Given the description of an element on the screen output the (x, y) to click on. 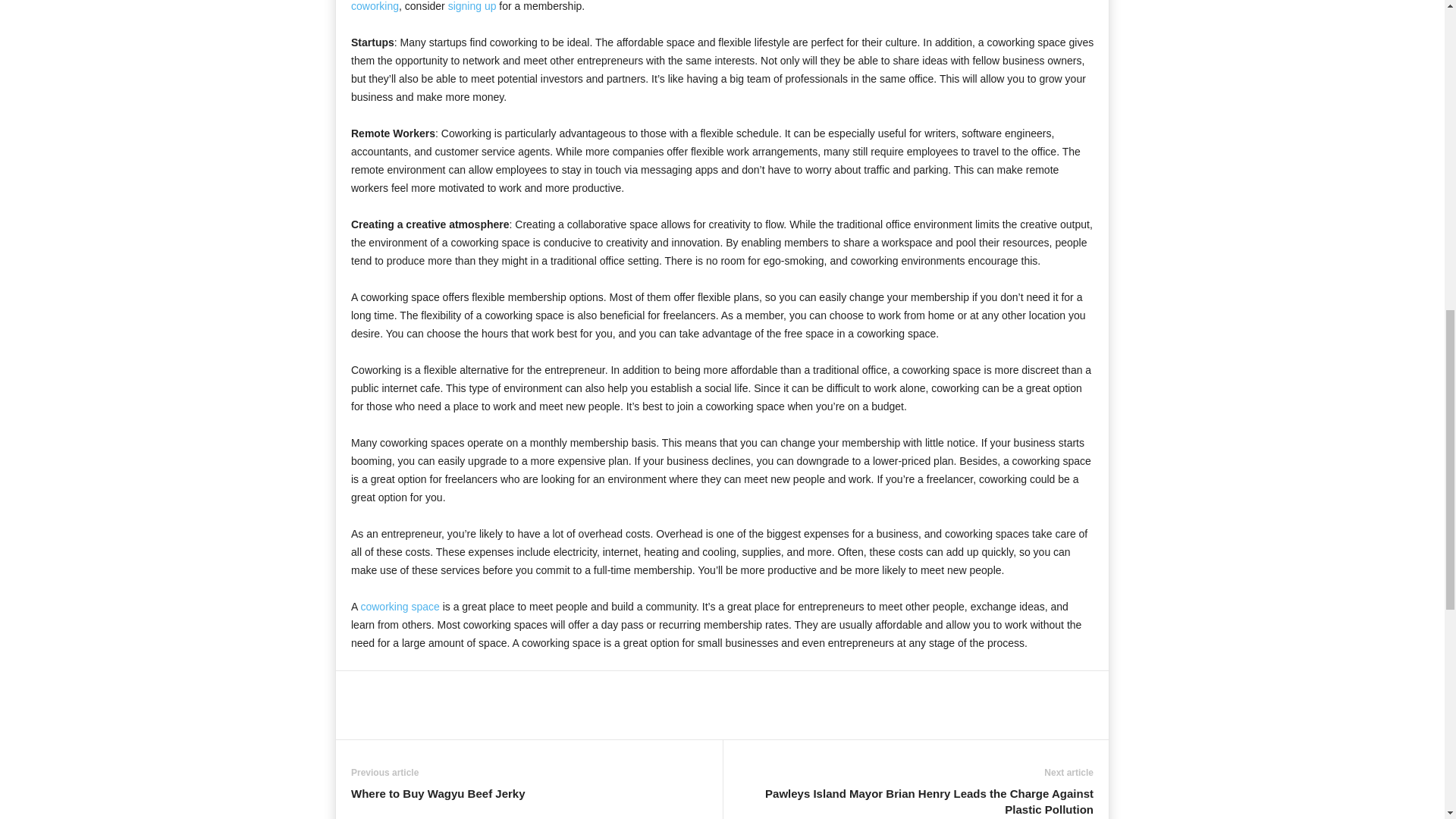
coworking space (399, 606)
coworking (374, 6)
signing up (472, 6)
